Given the description of an element on the screen output the (x, y) to click on. 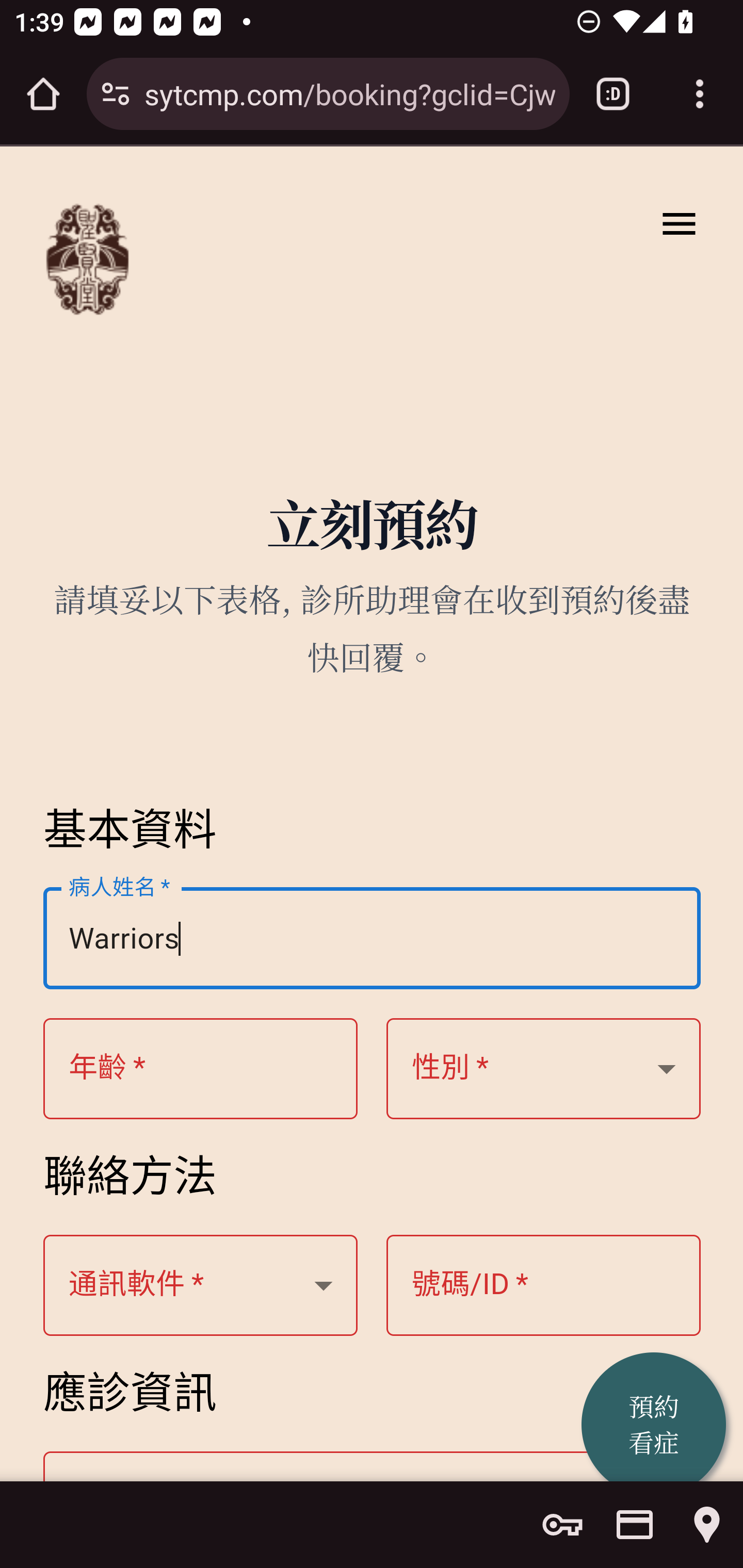
Open the home page (43, 93)
Connection is secure (115, 93)
Switch or close tabs (612, 93)
Customize and control Google Chrome (699, 93)
Warriors (372, 938)
年齡 性別 號碼/ID (200, 1069)
年齡 (544, 1069)
通訊軟件 ​ (200, 1286)
Show saved passwords and password options (562, 1524)
Show saved payment methods (634, 1524)
Show saved addresses (706, 1524)
